Given the description of an element on the screen output the (x, y) to click on. 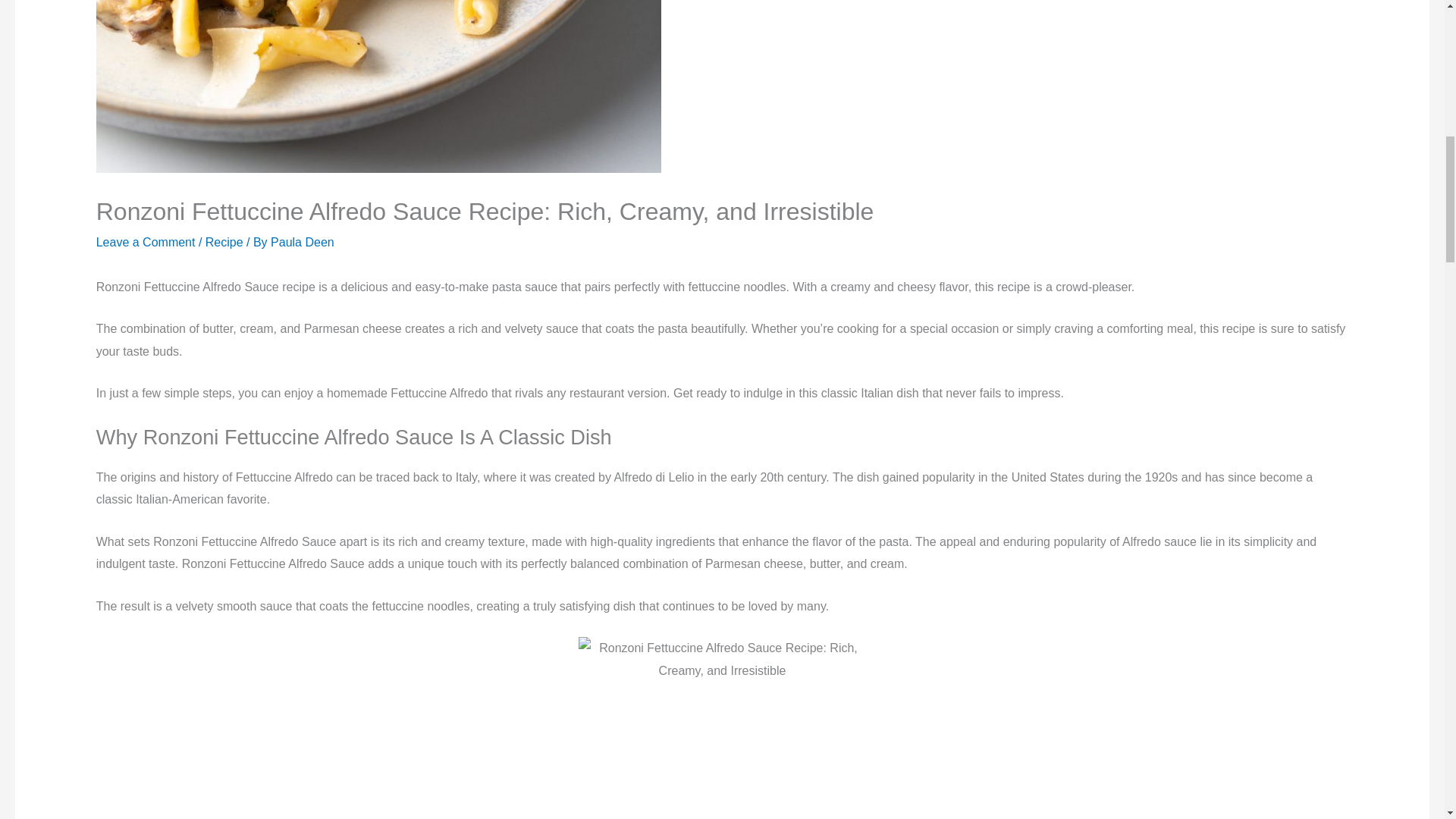
Recipe (224, 241)
Paula Deen (302, 241)
View all posts by Paula Deen (302, 241)
Leave a Comment (145, 241)
